Given the description of an element on the screen output the (x, y) to click on. 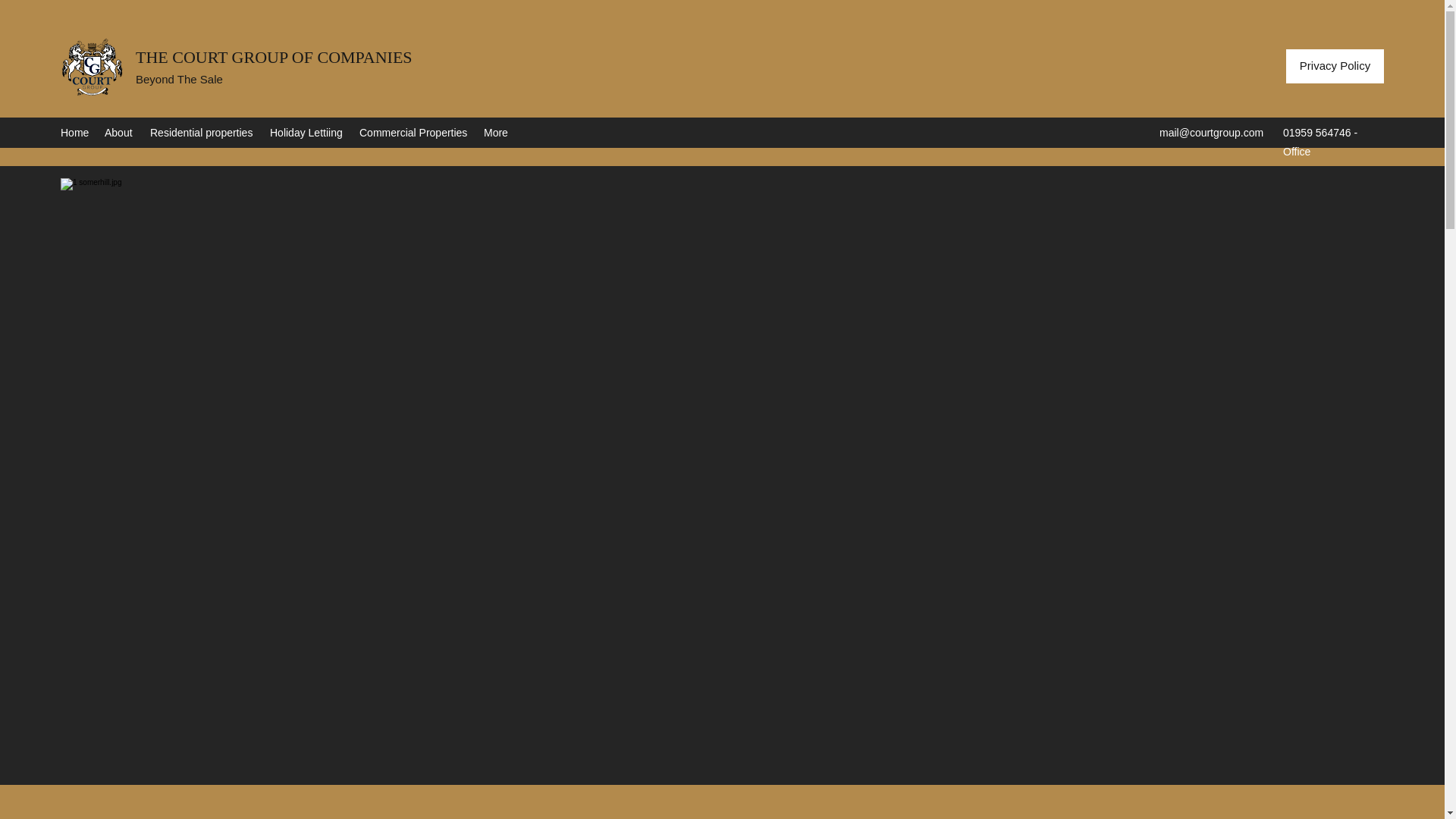
About (119, 132)
Residential properties (202, 132)
THE COURT GROUP OF COMPANIES (273, 56)
Holiday Lettiing (307, 132)
Commercial Properties (414, 132)
Home (74, 132)
Privacy Policy (1334, 66)
